Given the description of an element on the screen output the (x, y) to click on. 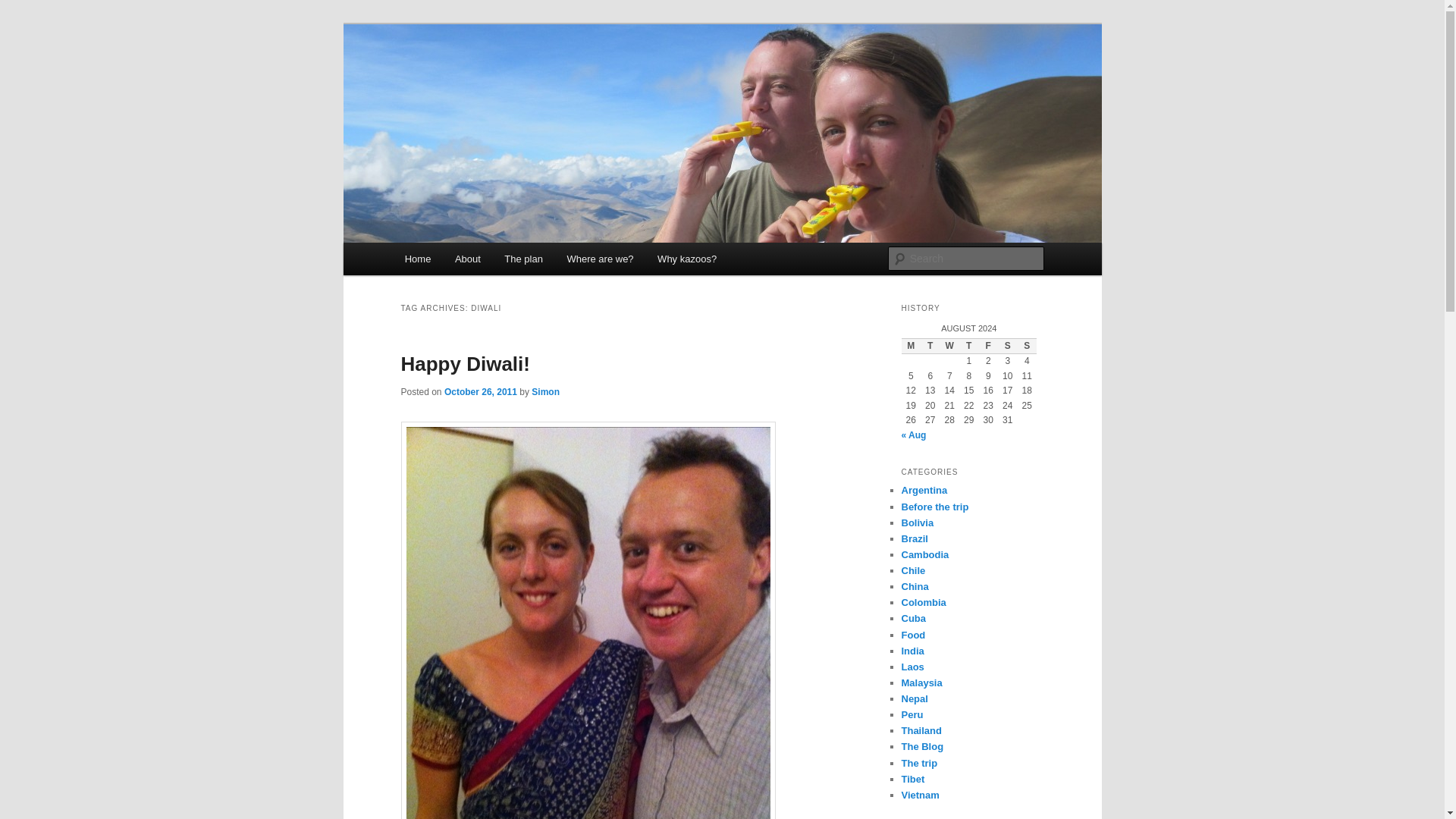
Travels with a kazoo (510, 78)
Laos (912, 666)
Brazil (914, 538)
Vietnam (920, 794)
The Blog (922, 746)
Friday (987, 346)
Chile (912, 570)
The plan (523, 258)
Wednesday (949, 346)
Travels with a kazoo (510, 78)
